Given the description of an element on the screen output the (x, y) to click on. 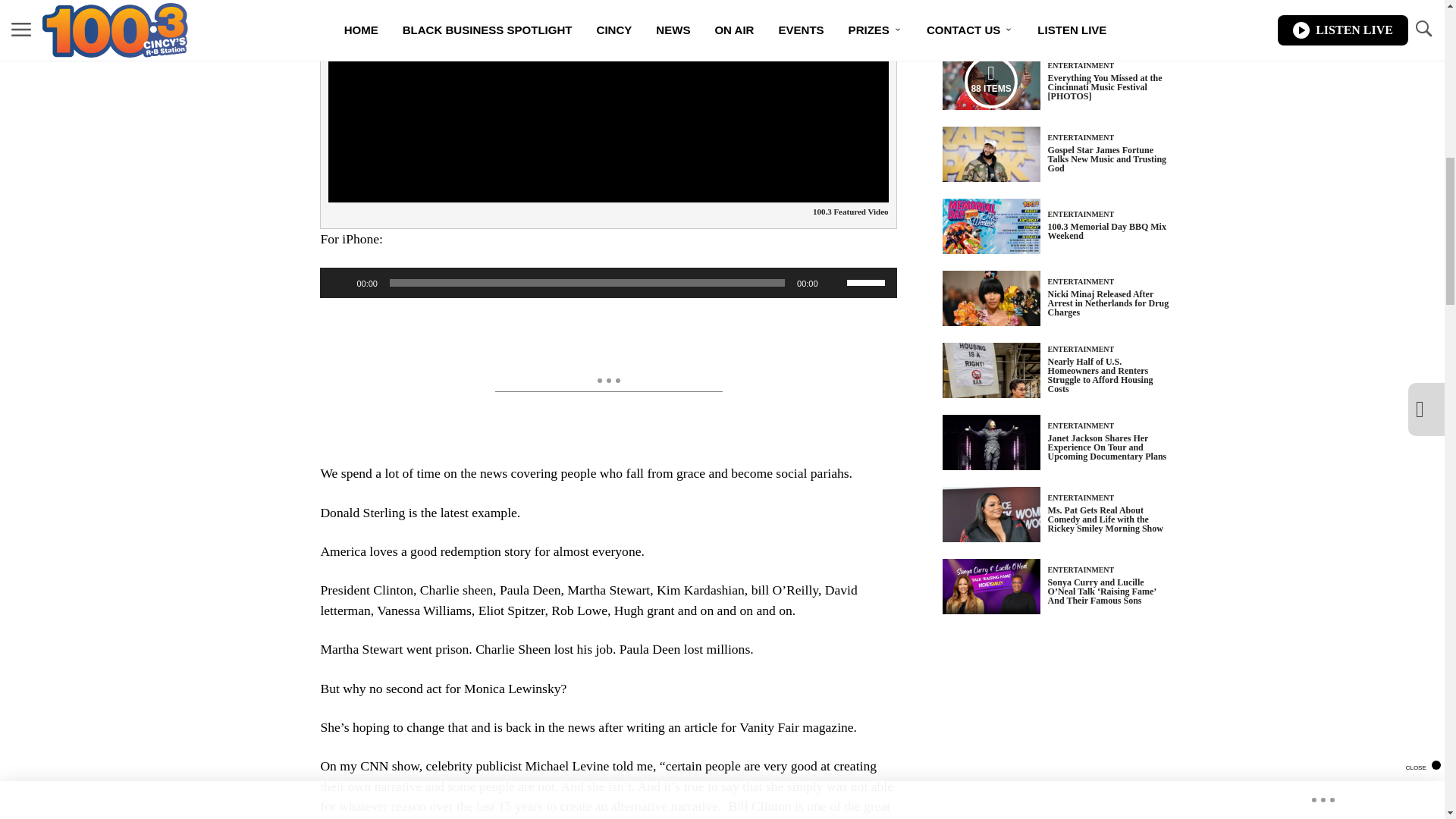
Mute (835, 282)
Media Playlist (990, 81)
Play (339, 282)
